Given the description of an element on the screen output the (x, y) to click on. 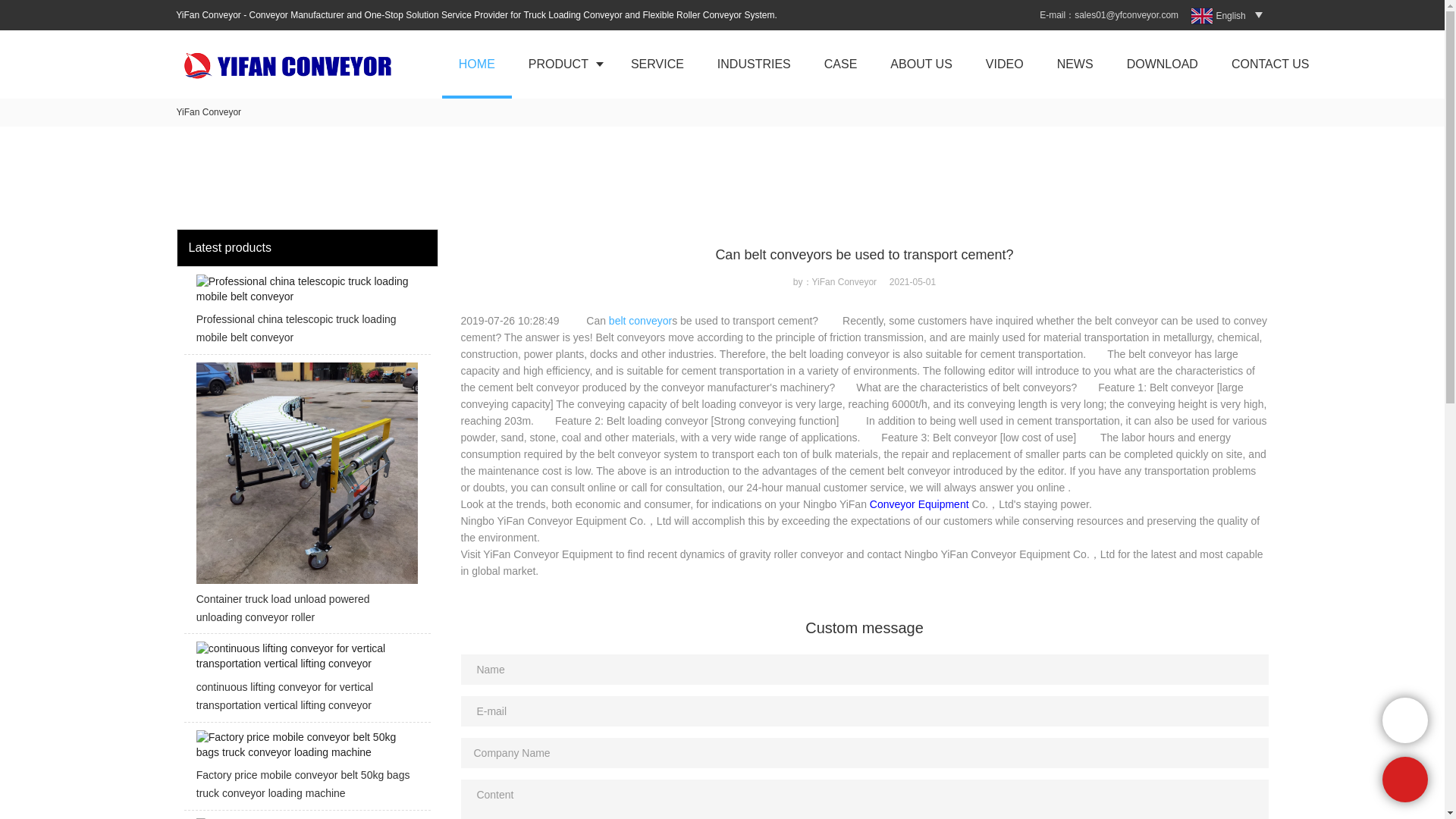
belt conveyor (639, 320)
SERVICE (657, 64)
NEWS (1075, 64)
HOME (477, 64)
DOWNLOAD (1161, 64)
CASE (841, 64)
ABOUT US (921, 64)
VIDEO (1005, 64)
CONTACT US (1270, 64)
